Given the description of an element on the screen output the (x, y) to click on. 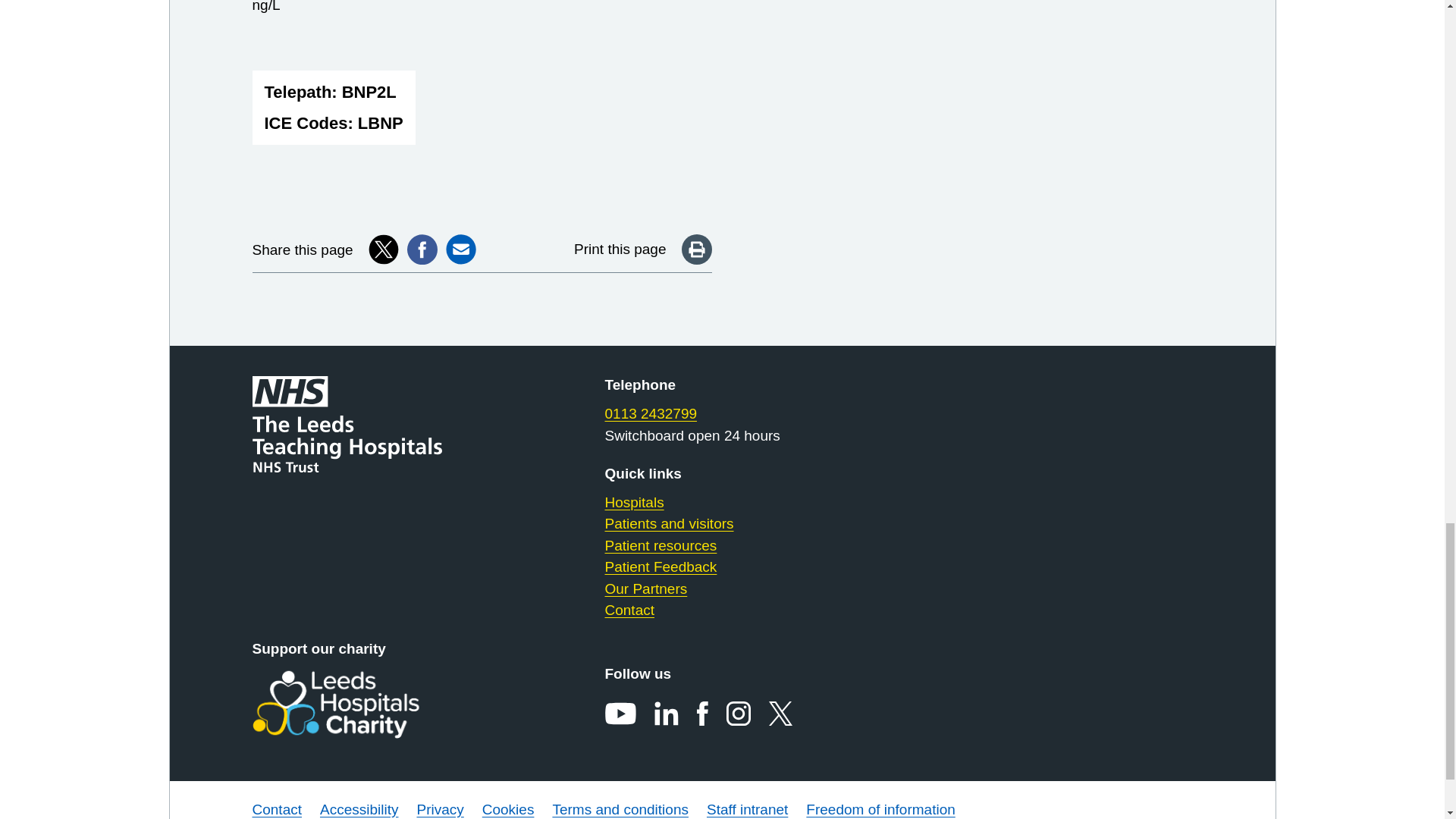
Share on Facebook (422, 249)
Share via Email (460, 249)
Leeds Hospital Charity (359, 704)
Leeds Teaching Hospitals NHS Trust Homepage (359, 423)
